Given the description of an element on the screen output the (x, y) to click on. 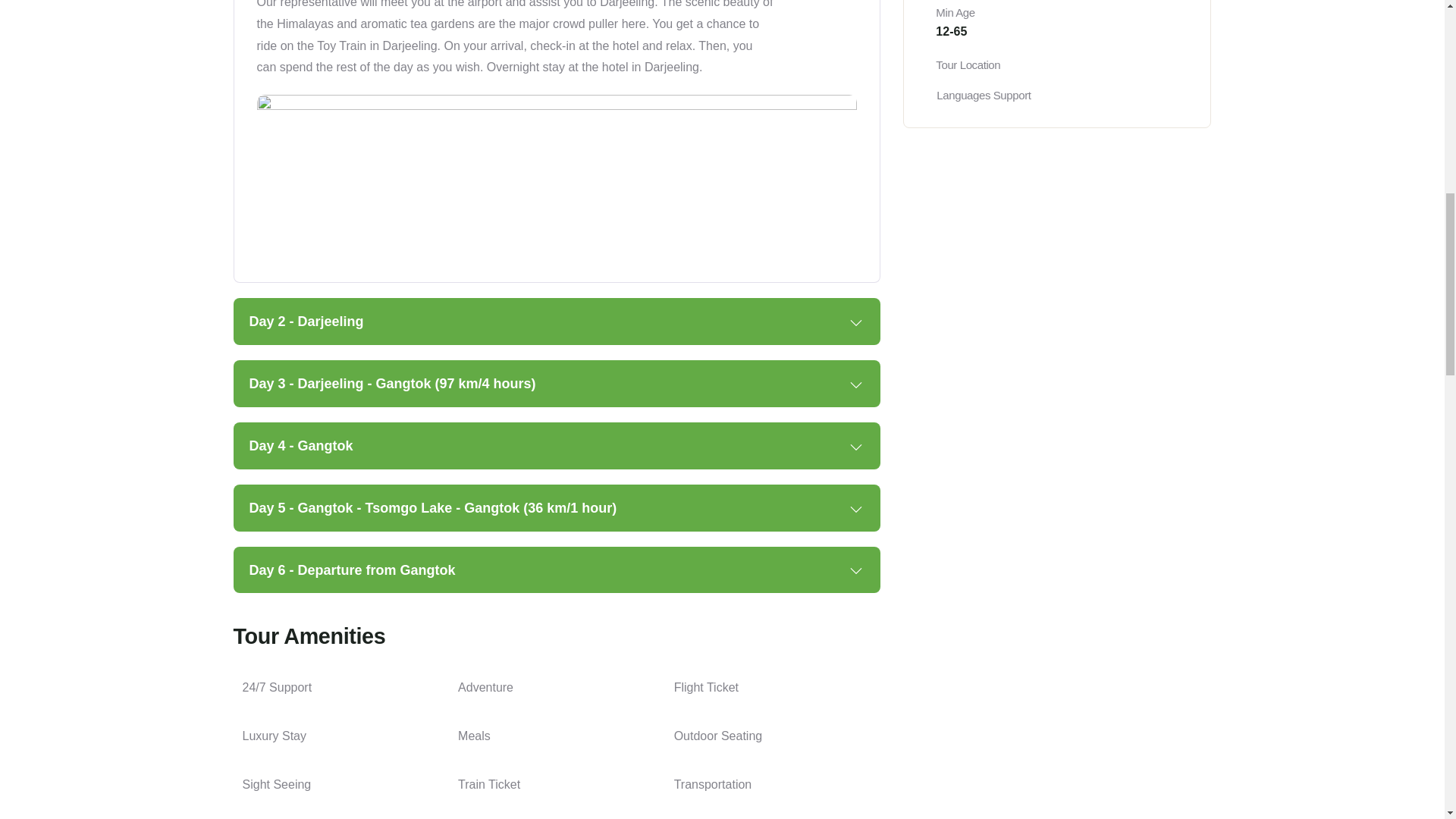
Day 4 - Gangtok (556, 445)
Day 6 - Departure from Gangtok (556, 570)
Day 2 - Darjeeling (556, 321)
